Given the description of an element on the screen output the (x, y) to click on. 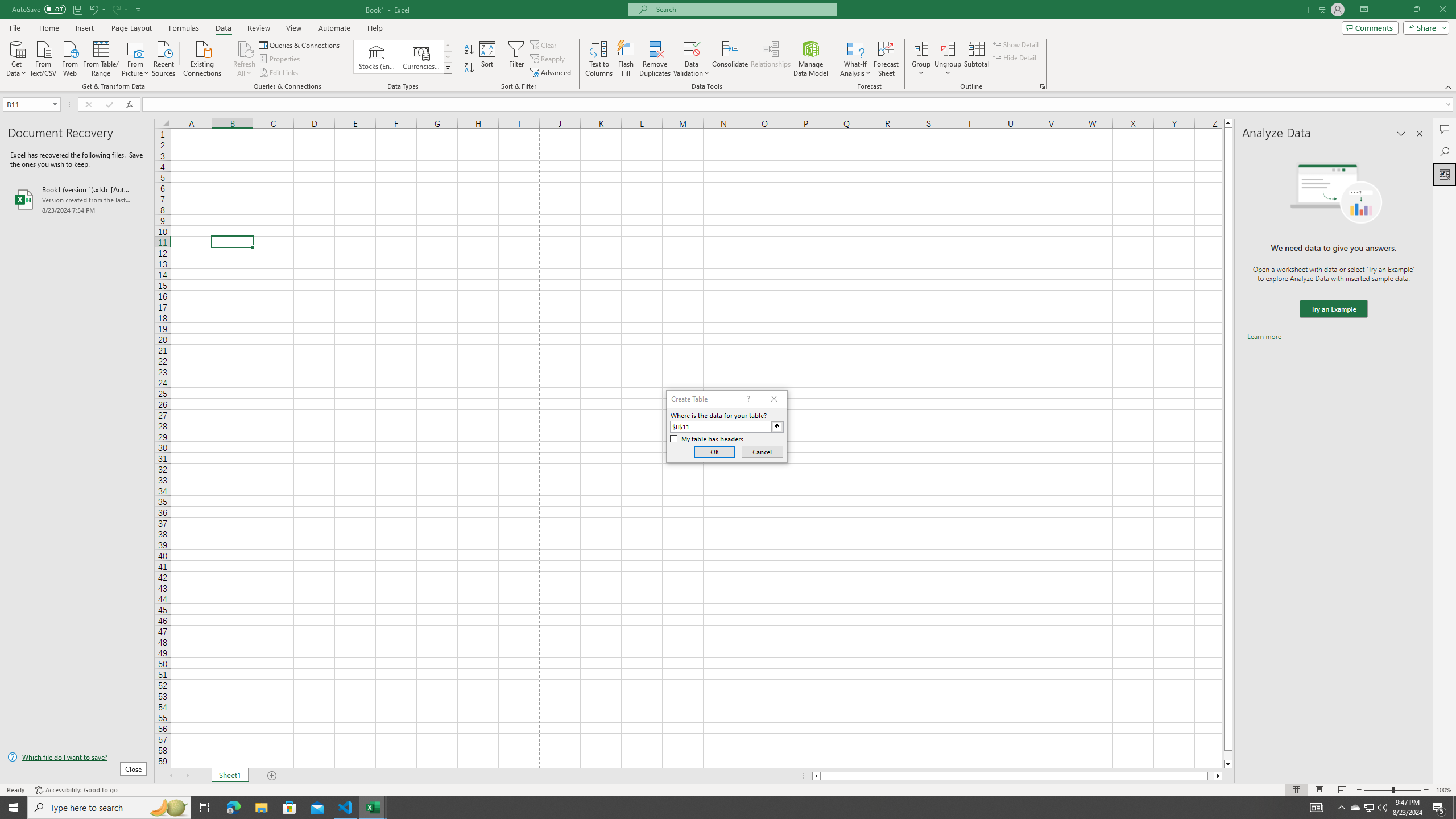
Queries & Connections (300, 44)
Data Types (448, 67)
What-If Analysis (855, 58)
Sort Z to A (469, 67)
Recent Sources (163, 57)
